Given the description of an element on the screen output the (x, y) to click on. 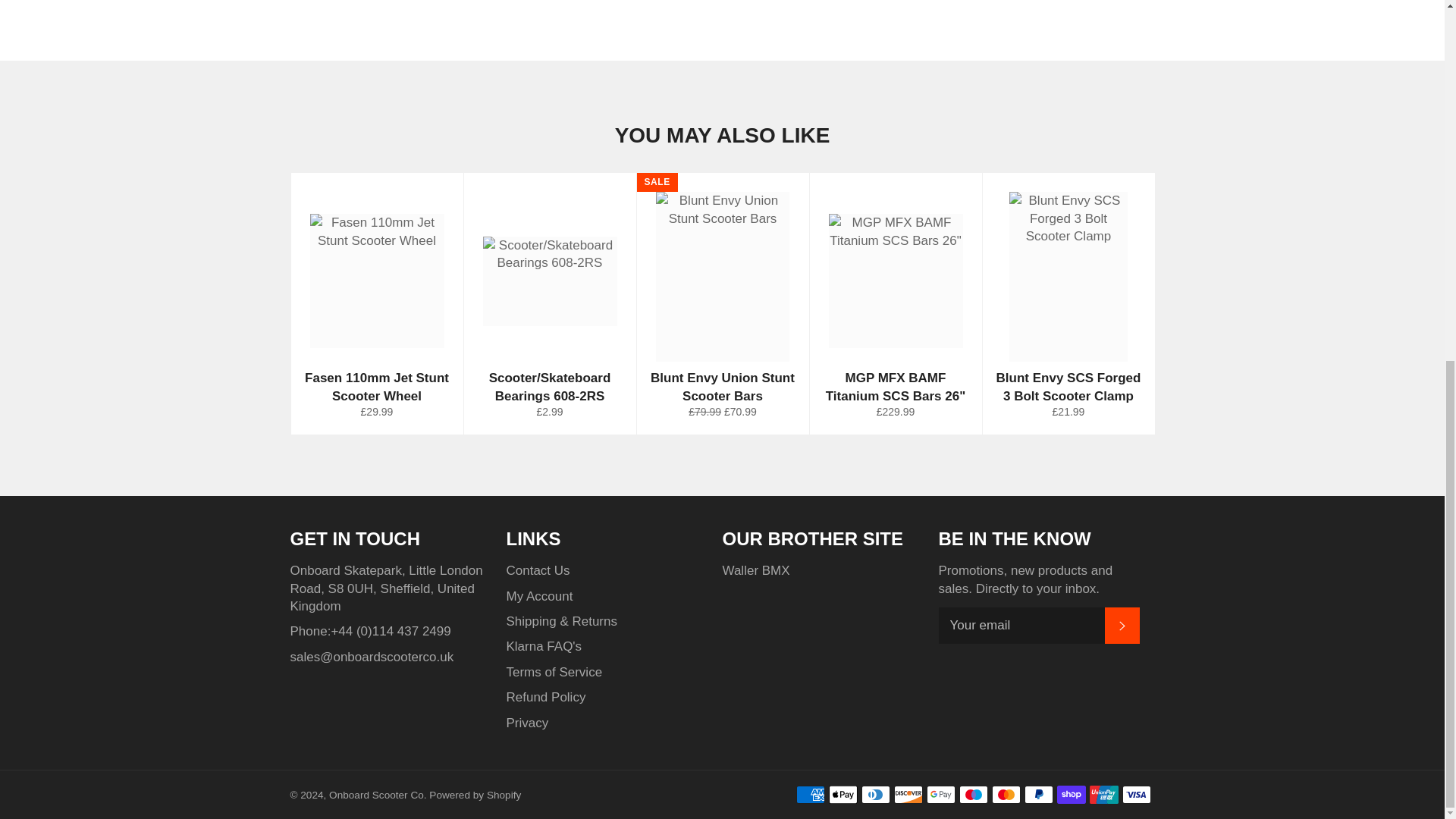
Privacy (527, 722)
Shipping and Returns (561, 621)
My Account (539, 595)
Contact Us (538, 570)
Klarna FAQ's (544, 646)
